Given the description of an element on the screen output the (x, y) to click on. 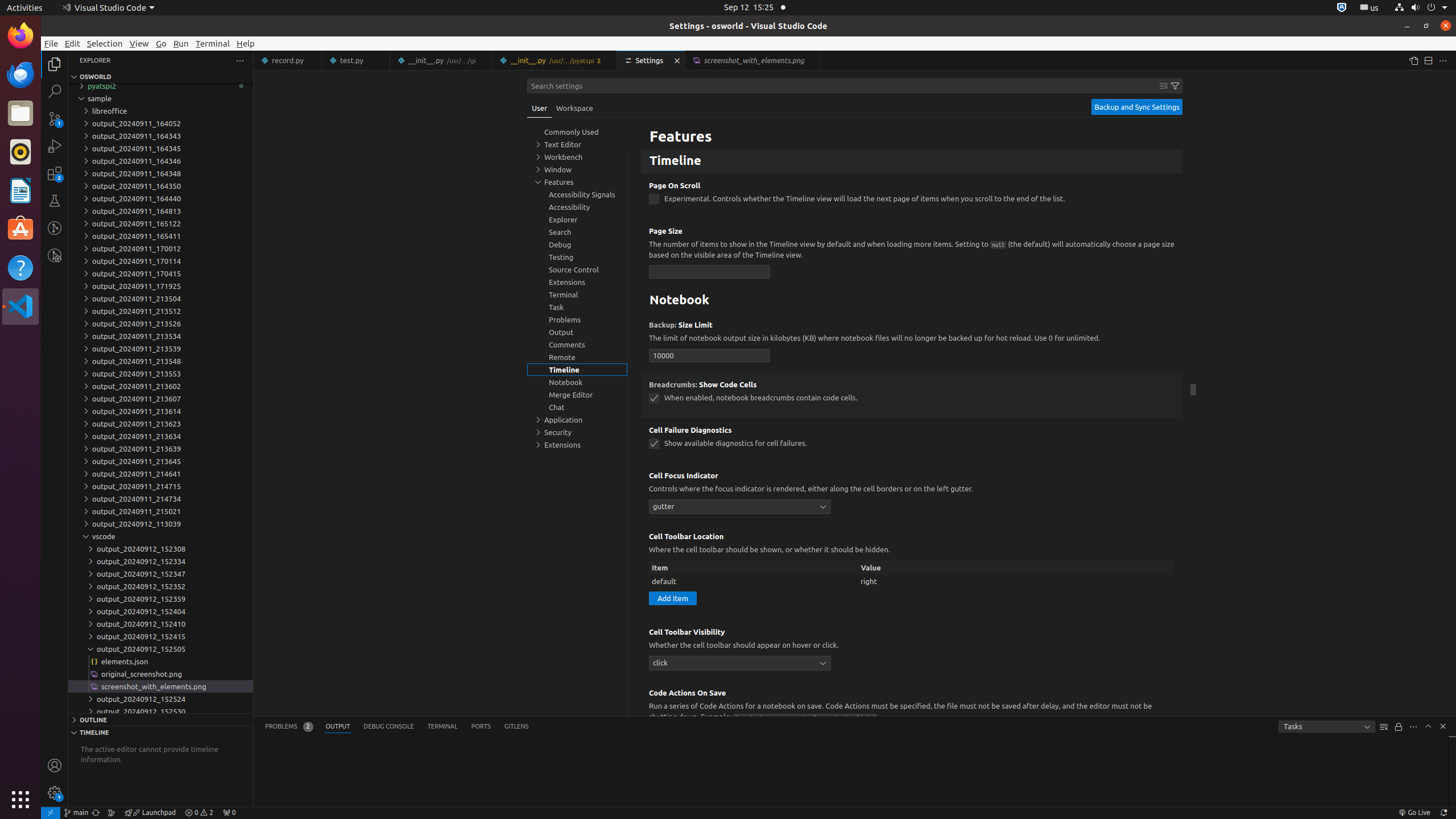
output_20240911_213614 Element type: tree-item (160, 410)
output_20240911_213548 Element type: tree-item (160, 360)
More Actions... Element type: push-button (1442, 60)
timeline.pageSize Element type: spin-button (709, 271)
